Given the description of an element on the screen output the (x, y) to click on. 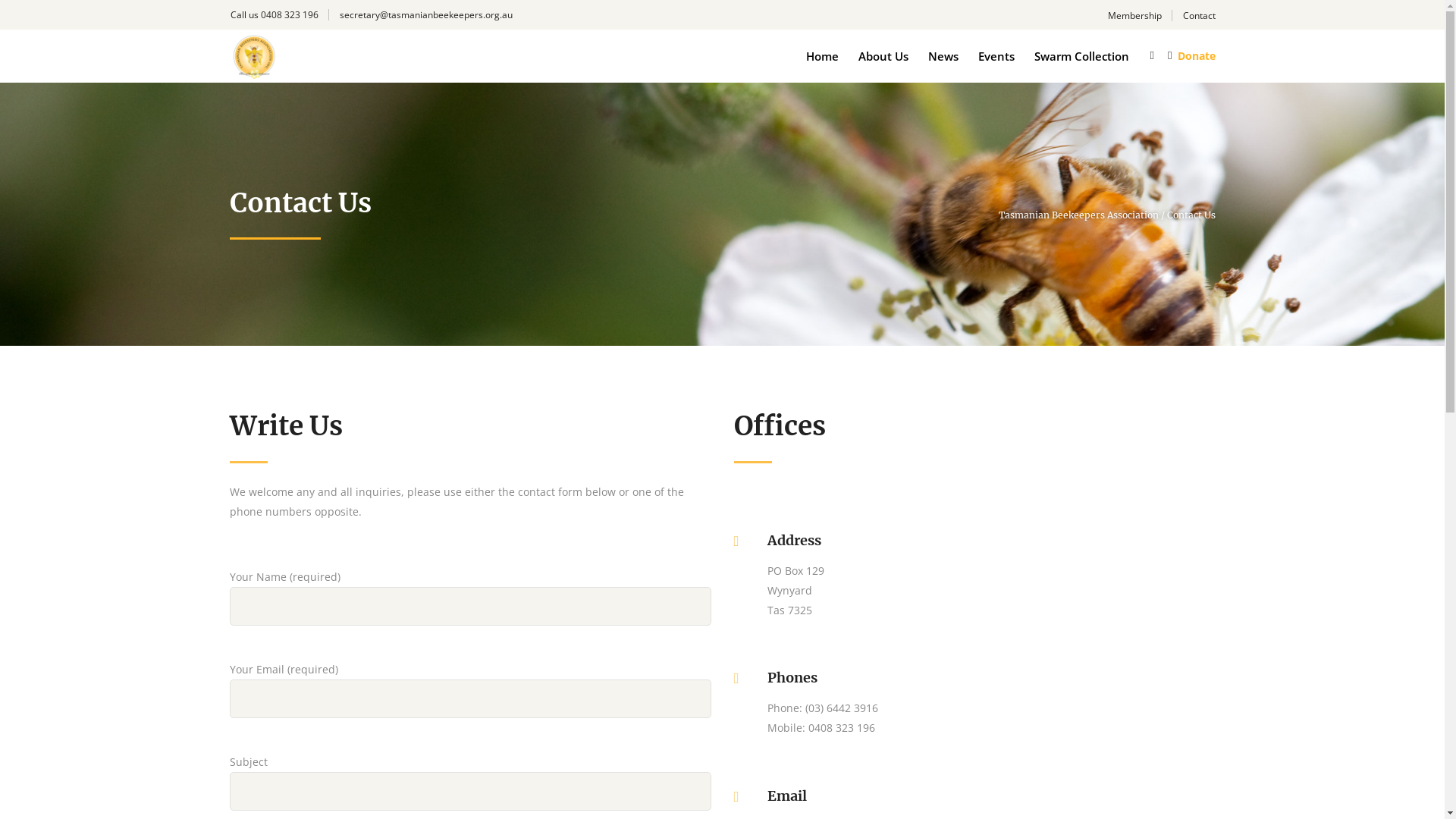
Events Element type: text (996, 55)
News Element type: text (943, 55)
Membership Element type: text (1134, 15)
Email Element type: text (786, 796)
Tasmanian Beekeepers Association Element type: text (1077, 214)
secretary@tasmanianbeekeepers.org.au Element type: text (425, 14)
Home Element type: text (822, 55)
Phones Element type: text (792, 677)
Address Element type: text (794, 540)
About Us Element type: text (883, 55)
Donate Element type: text (1195, 55)
Swarm Collection Element type: text (1081, 55)
Contact Element type: text (1199, 15)
